Given the description of an element on the screen output the (x, y) to click on. 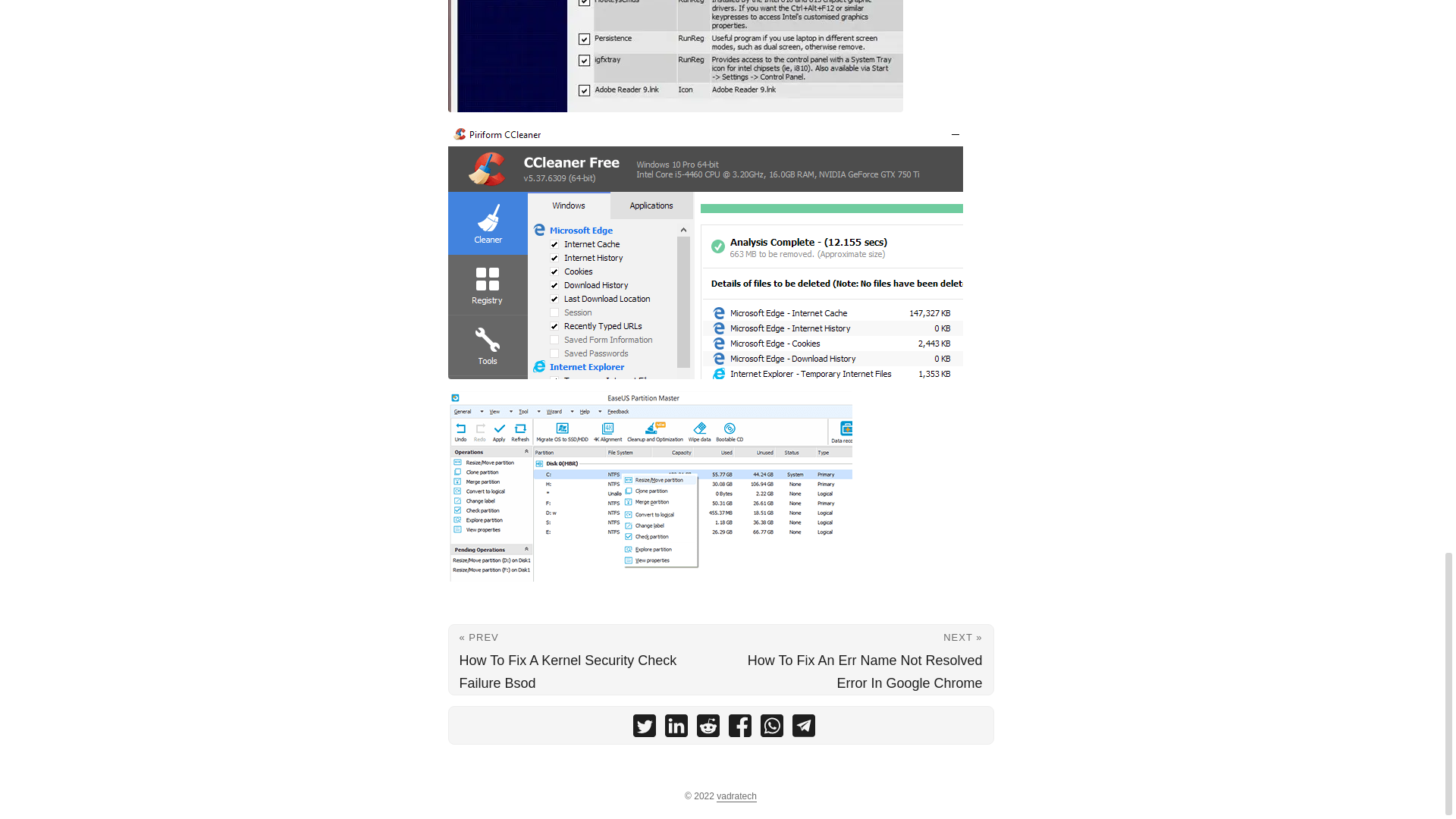
vadratech (736, 796)
